Given the description of an element on the screen output the (x, y) to click on. 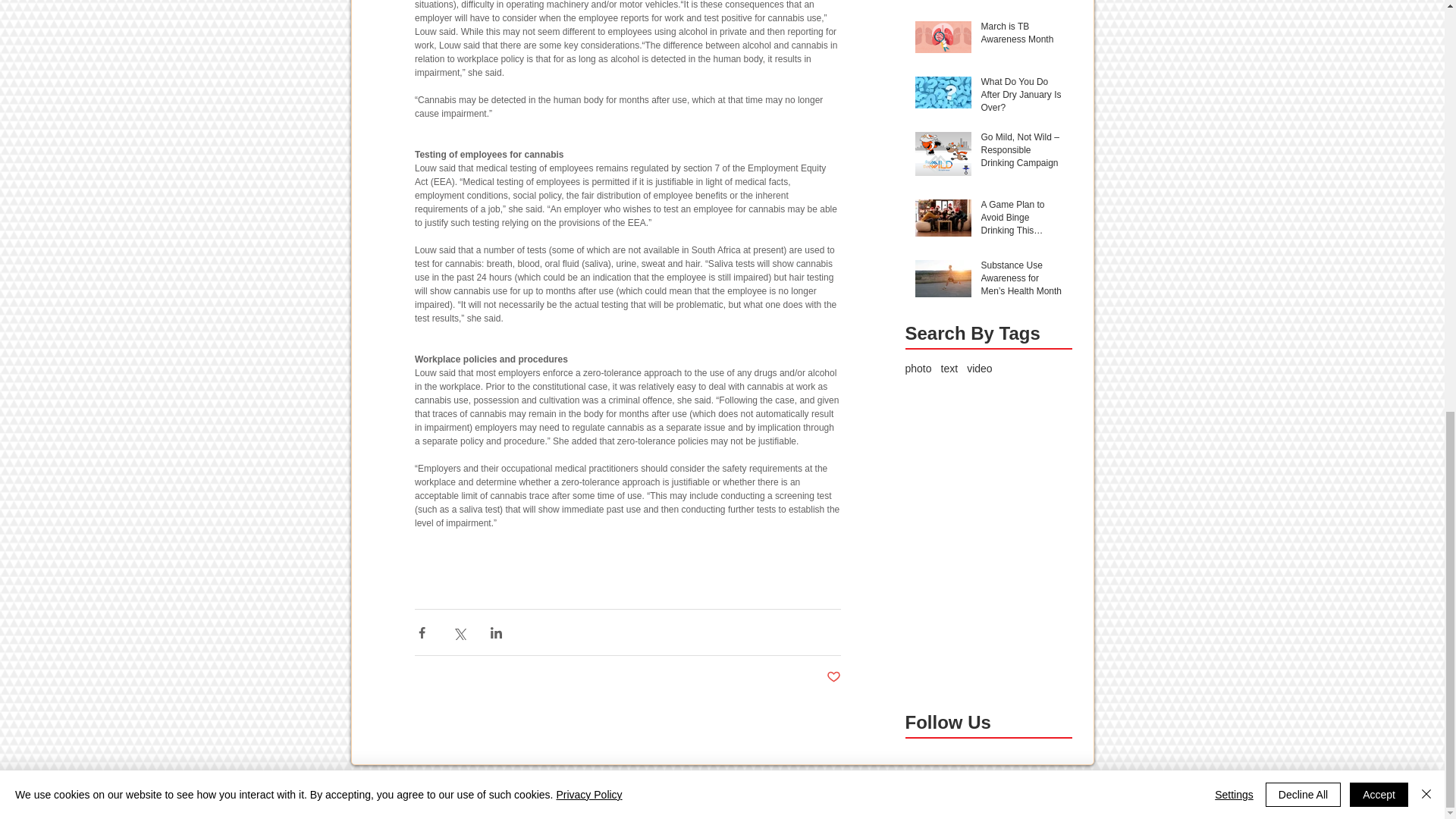
March is TB Awareness Month (1021, 36)
What Do You Do After Dry January Is Over? (1021, 97)
Post not marked as liked (834, 677)
video (978, 368)
text (949, 368)
photo (918, 368)
A Game Plan to Avoid Binge Drinking This Festive Season (1021, 220)
